Given the description of an element on the screen output the (x, y) to click on. 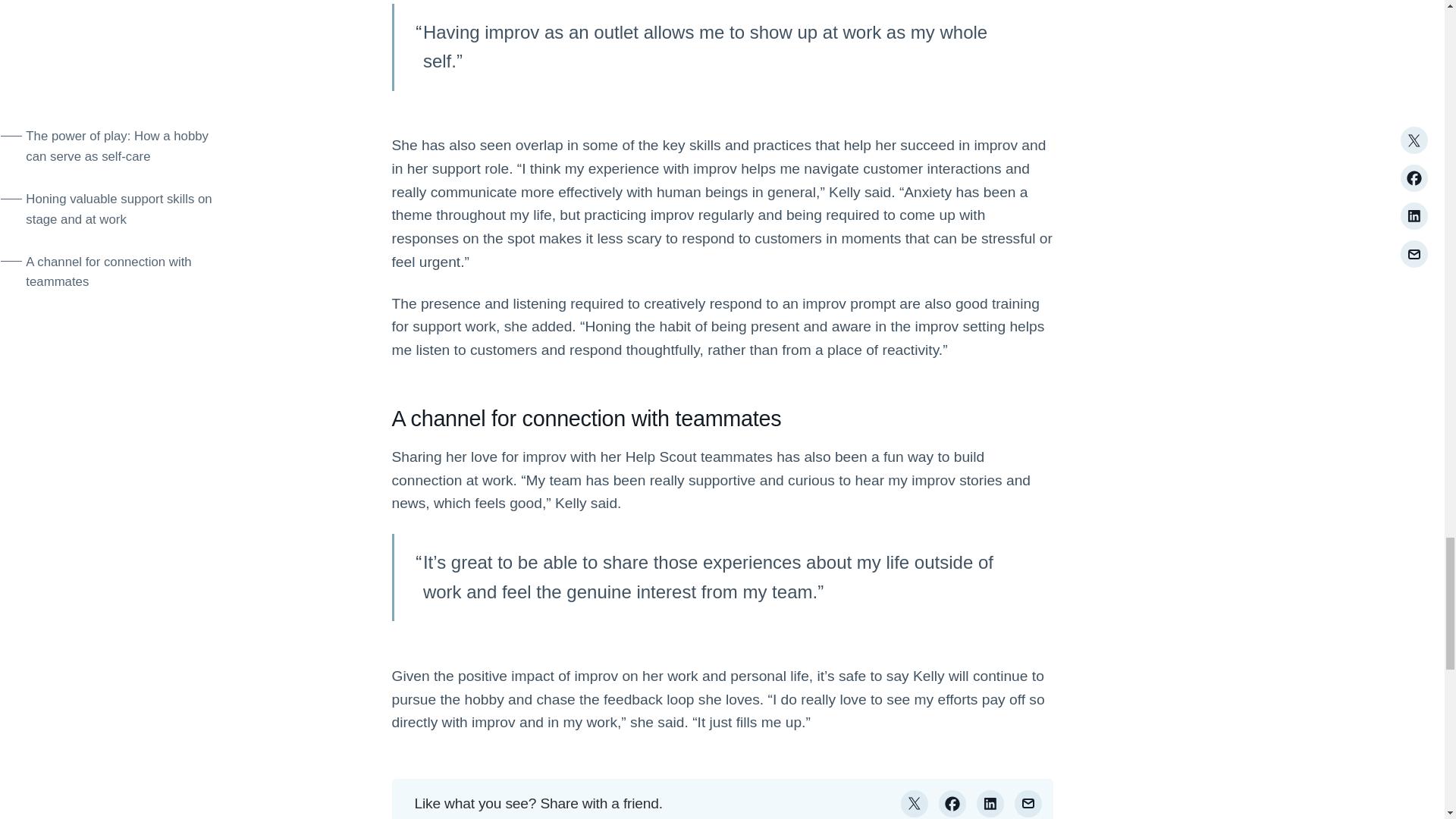
Share on Twitter (914, 803)
Share on Facebook (952, 803)
Share via Email (1028, 803)
Share on LinkedIn (990, 803)
